Given the description of an element on the screen output the (x, y) to click on. 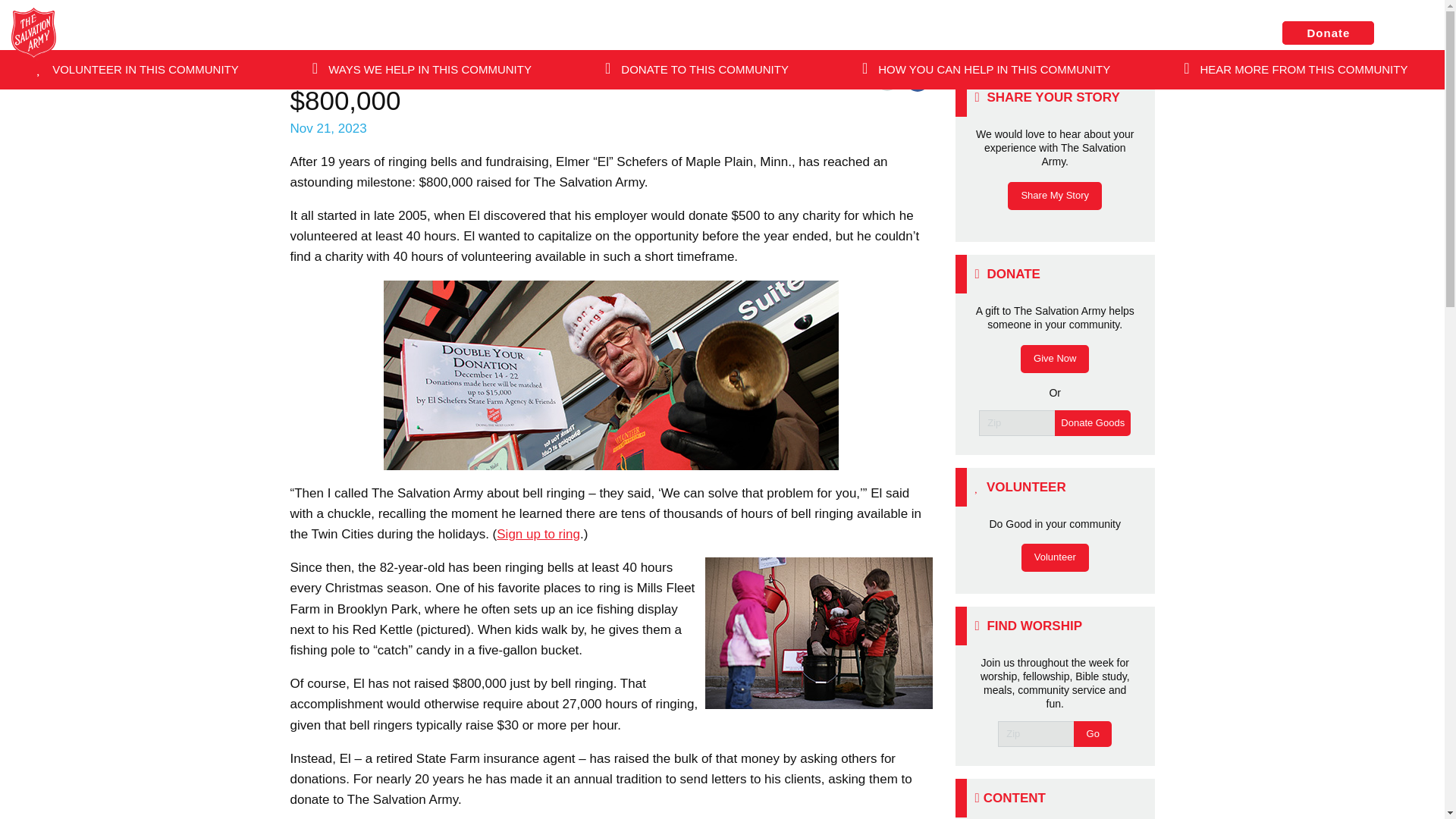
VOLUNTEER IN THIS COMMUNITY (137, 69)
Northern Division (670, 33)
Go (456, 112)
Share on Facebook (916, 79)
Menu (1412, 34)
HOW YOU CAN HELP IN THIS COMMUNITY (986, 69)
Go (1093, 733)
Donate (1328, 33)
Locations (1215, 32)
DONATE TO THIS COMMUNITY (697, 69)
